Given the description of an element on the screen output the (x, y) to click on. 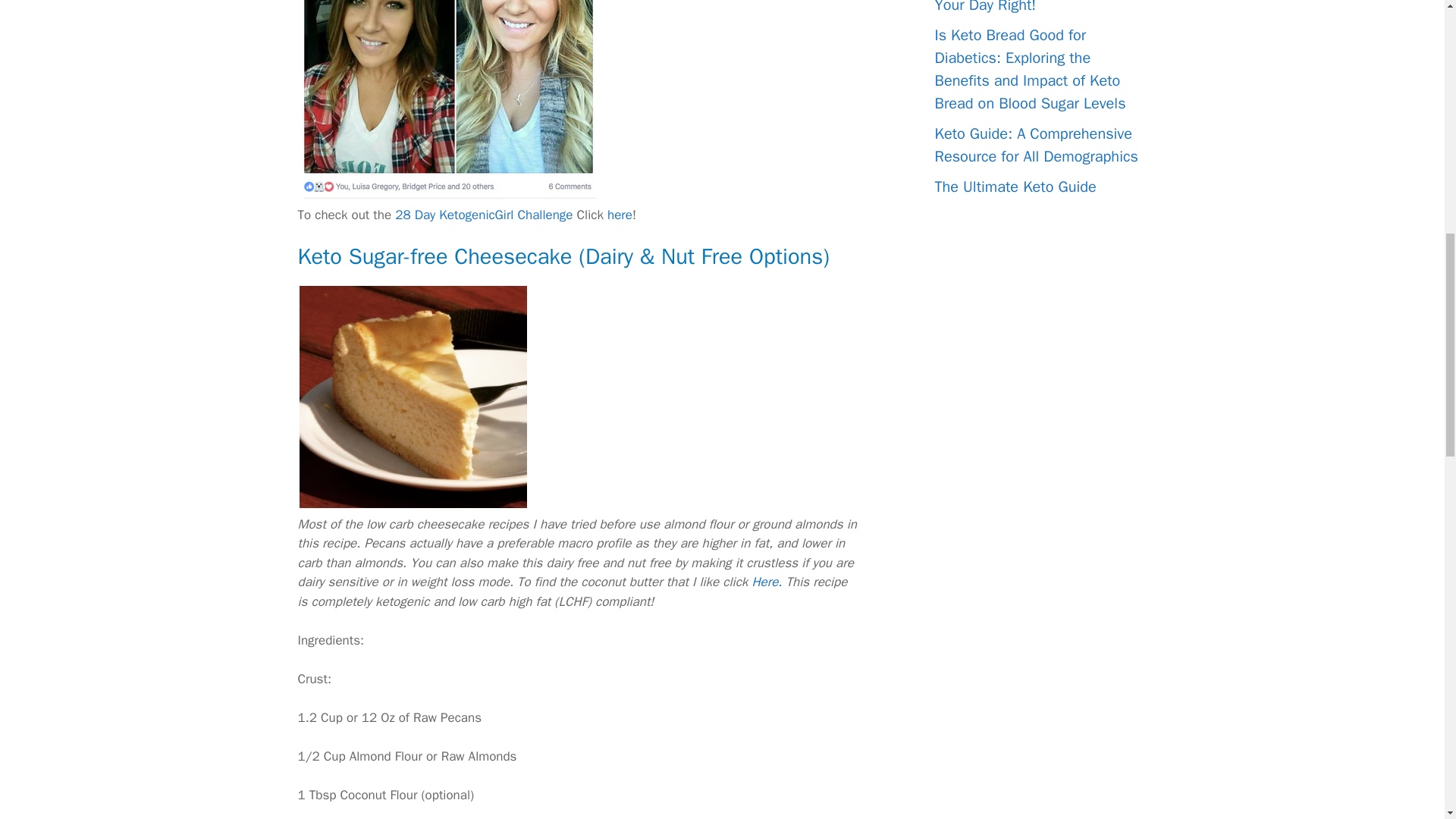
The Ultimate Keto Guide (1015, 186)
28 Day KetogenicGirl Challenge (483, 214)
here (619, 214)
Keto Guide: A Comprehensive Resource for All Demographics (1035, 145)
Here. (766, 581)
